Given the description of an element on the screen output the (x, y) to click on. 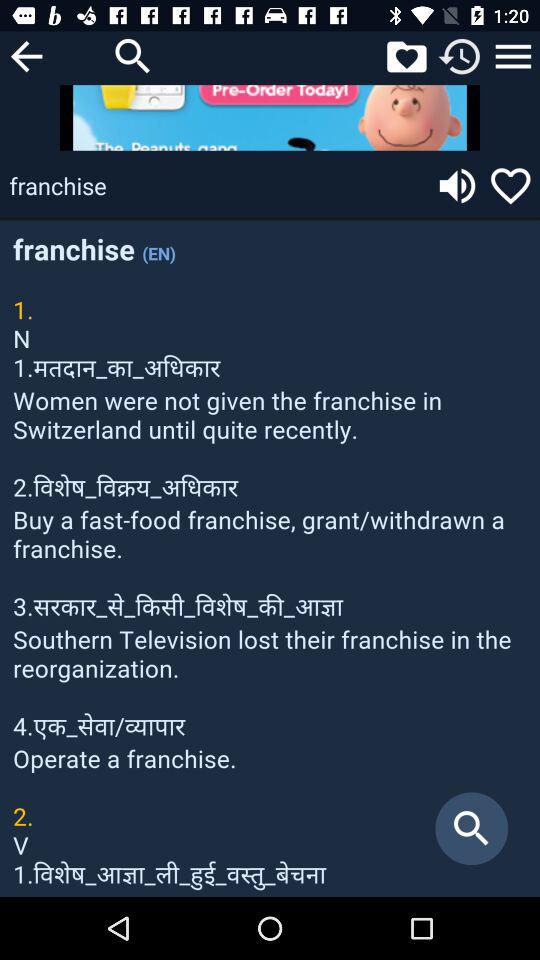
go to icon (513, 56)
